Given the description of an element on the screen output the (x, y) to click on. 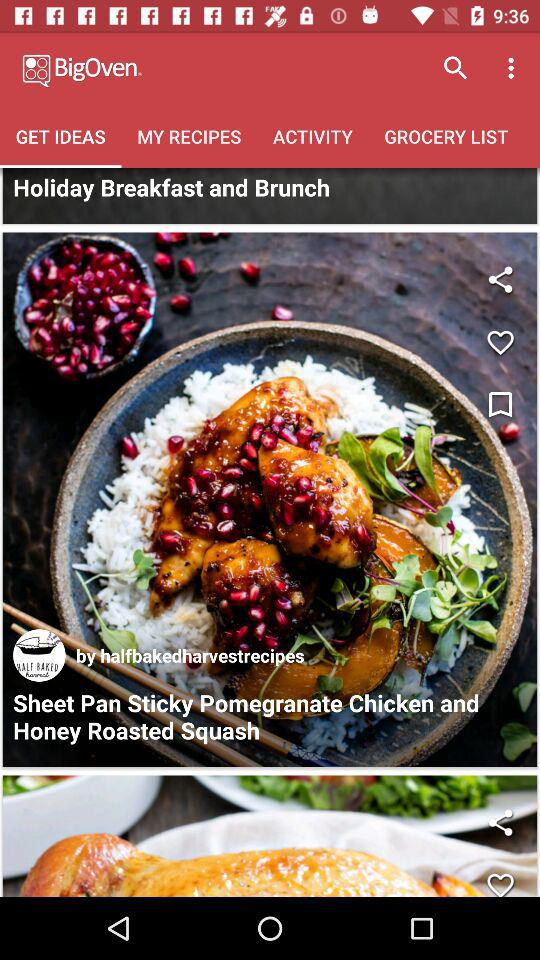
turn off the icon next to by halfbakedharvestrecipes (39, 655)
